Given the description of an element on the screen output the (x, y) to click on. 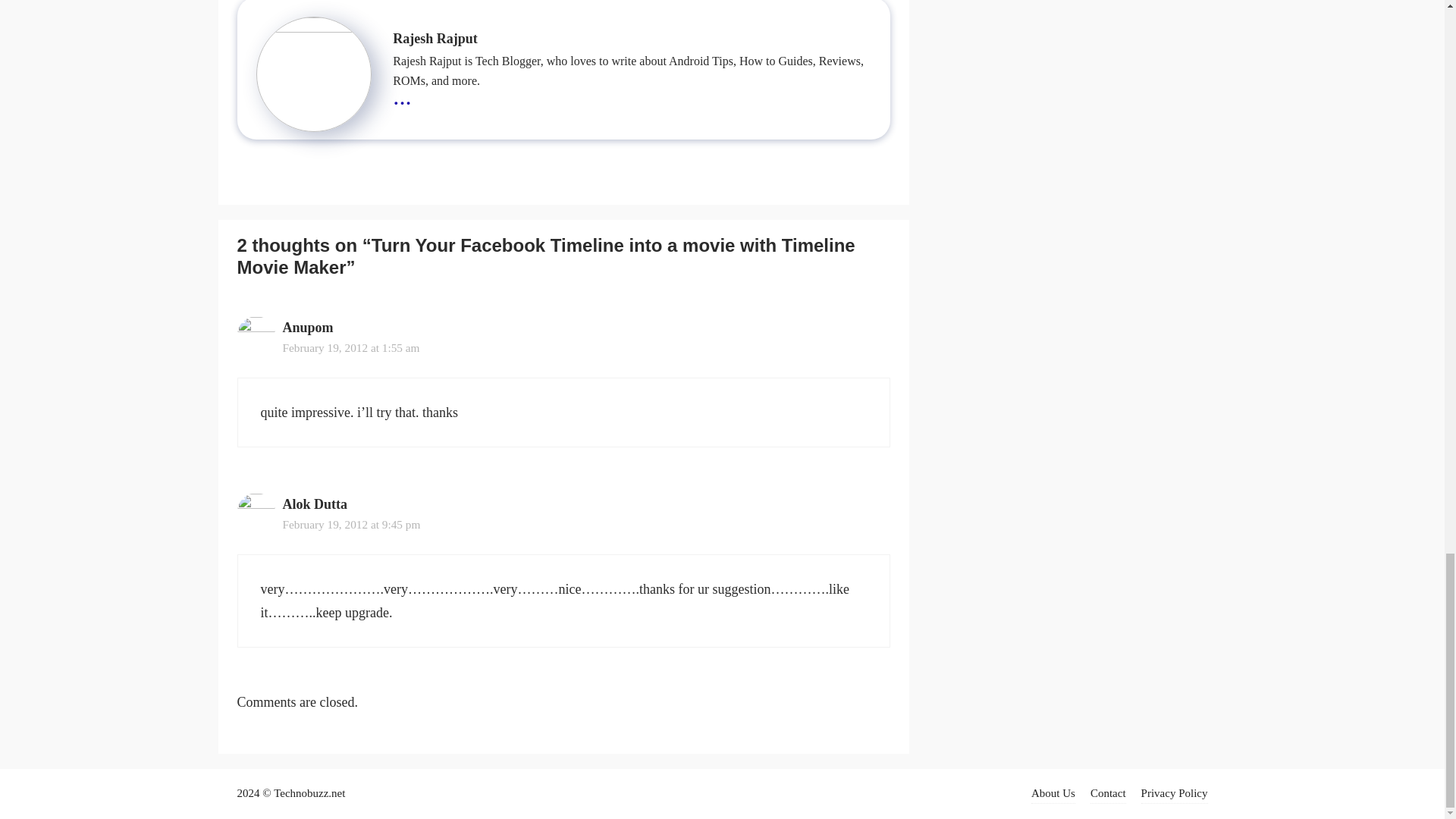
Contact (1107, 793)
February 19, 2012 at 9:45 pm (351, 523)
February 19, 2012 at 1:55 am (350, 347)
Privacy Policy (1174, 793)
About Us (1052, 793)
